Given the description of an element on the screen output the (x, y) to click on. 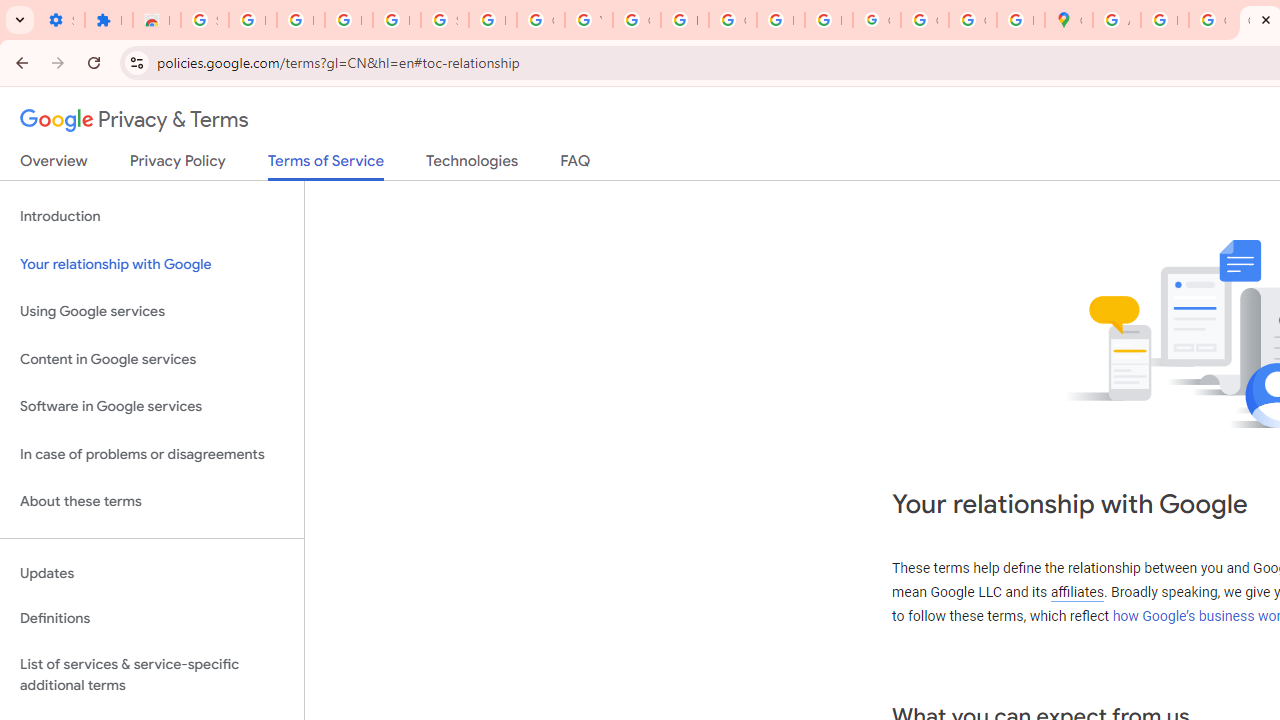
https://scholar.google.com/ (684, 20)
In case of problems or disagreements (152, 453)
About these terms (152, 502)
affiliates (1076, 592)
Create your Google Account (1212, 20)
Delete photos & videos - Computer - Google Photos Help (300, 20)
